Given the description of an element on the screen output the (x, y) to click on. 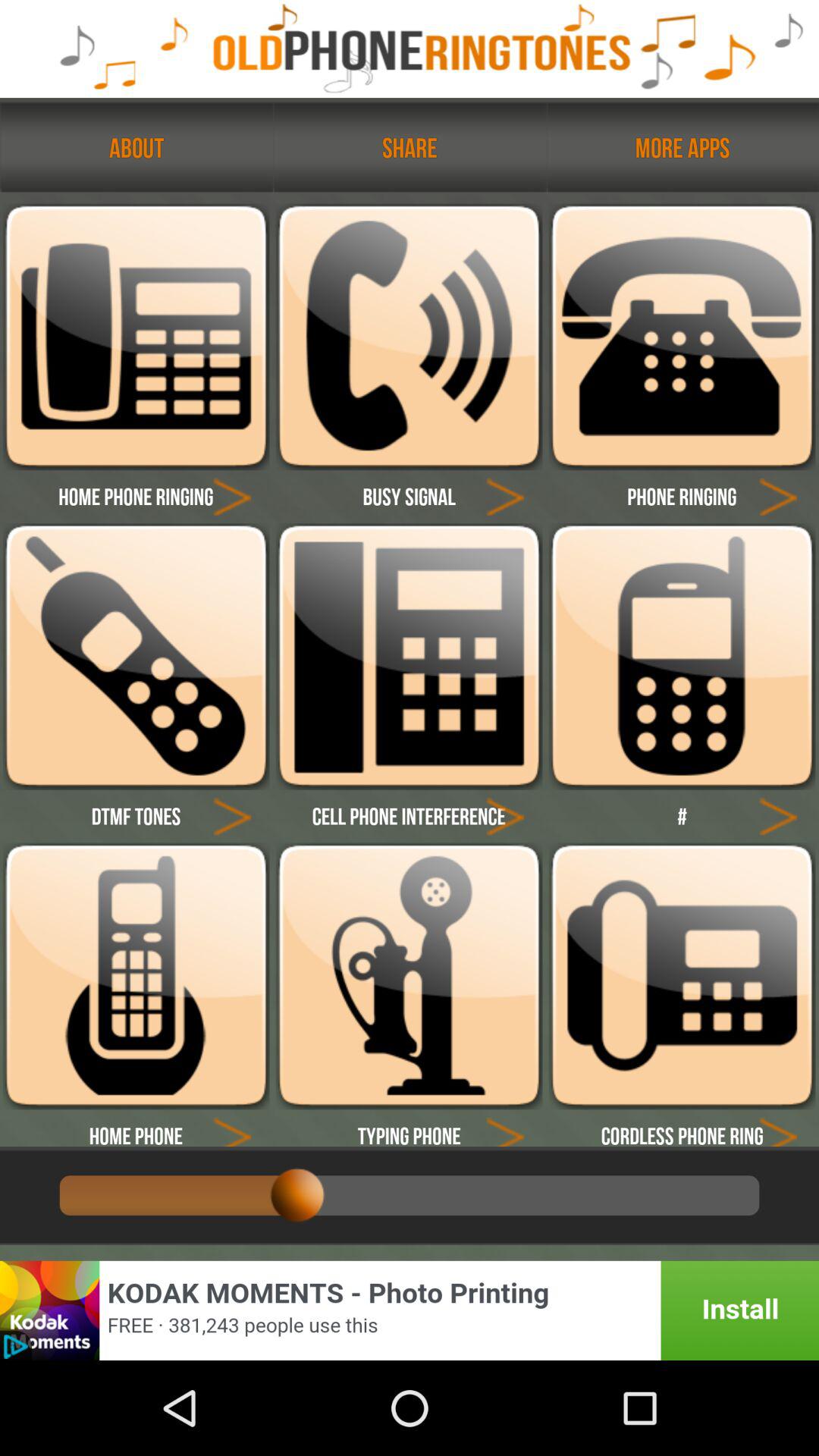
play ringtone (778, 496)
